Given the description of an element on the screen output the (x, y) to click on. 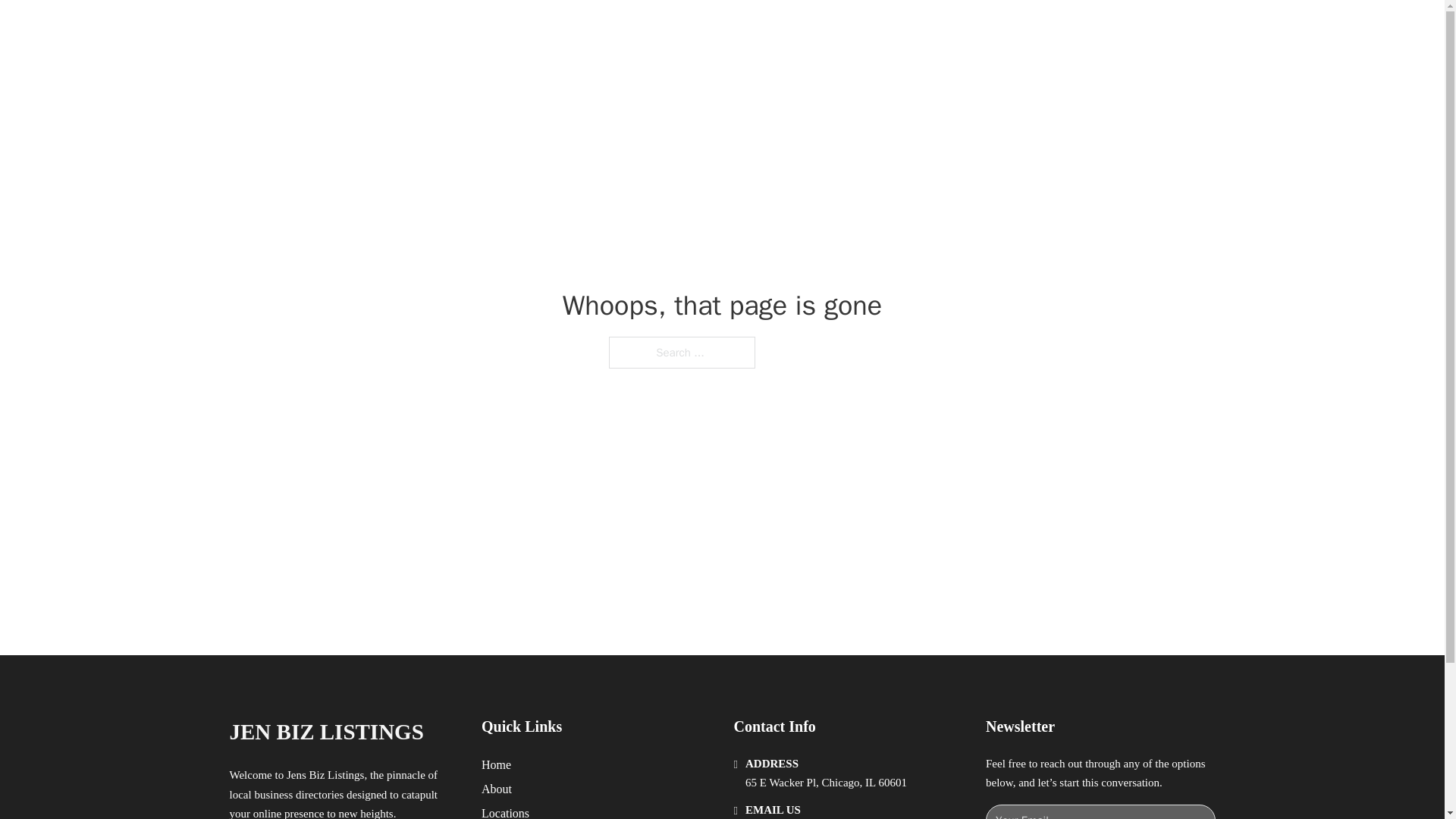
About (496, 788)
JEN BIZ LISTINGS (325, 732)
Home (496, 764)
Locations (505, 811)
LOCATIONS (990, 29)
JENS BIZ LISTINGS (405, 28)
HOME (919, 29)
